Given the description of an element on the screen output the (x, y) to click on. 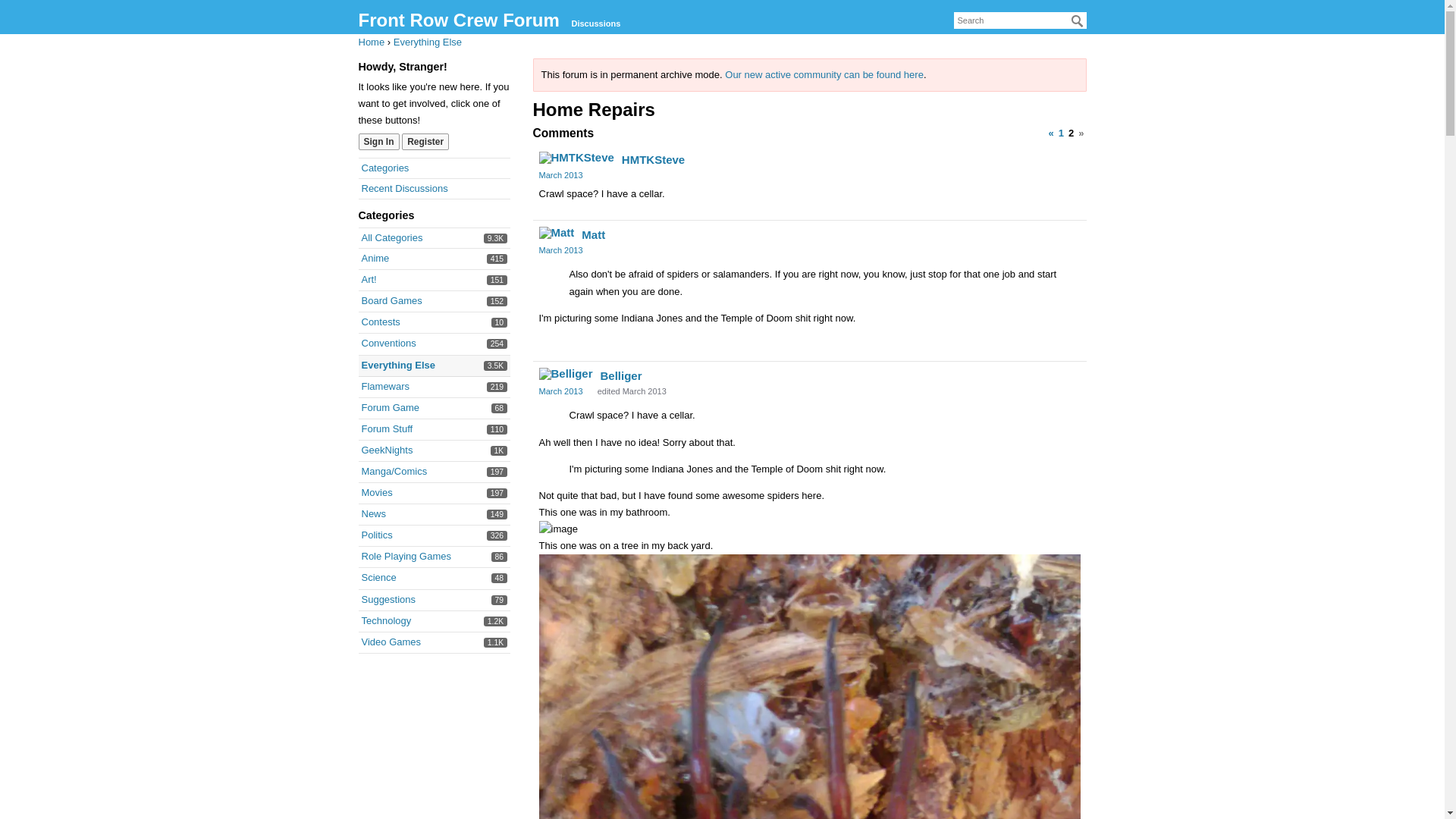
86 discussions (390, 407)
Front Row Crew Forum (385, 386)
197 discussions (499, 556)
149 discussions (458, 19)
9,262 discussions (496, 471)
110 discussions (496, 514)
68 discussions (495, 238)
